Given the description of an element on the screen output the (x, y) to click on. 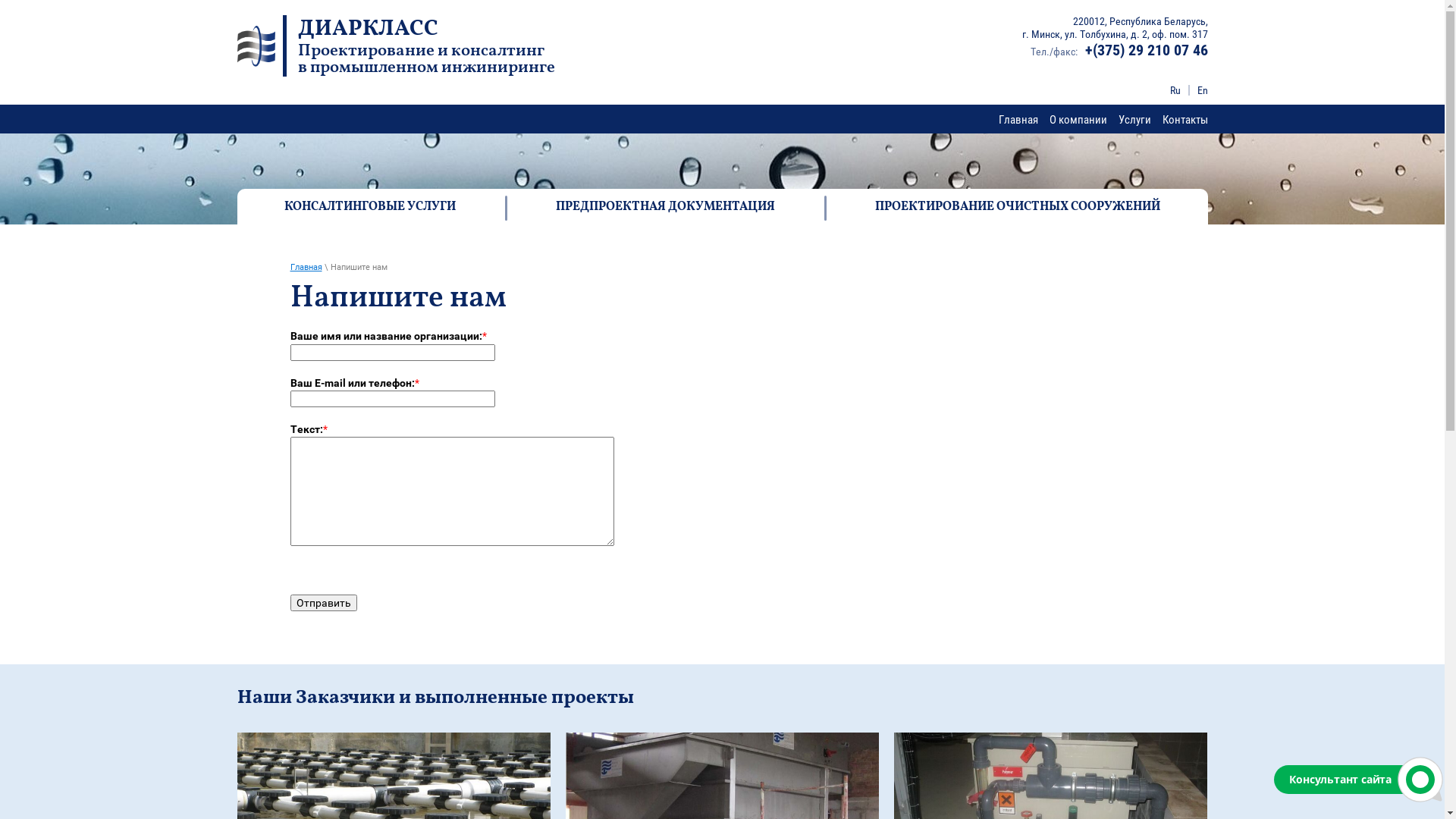
En Element type: text (1201, 90)
+(375) 29 210 07 46 Element type: text (1145, 49)
Ru Element type: text (1174, 90)
